Given the description of an element on the screen output the (x, y) to click on. 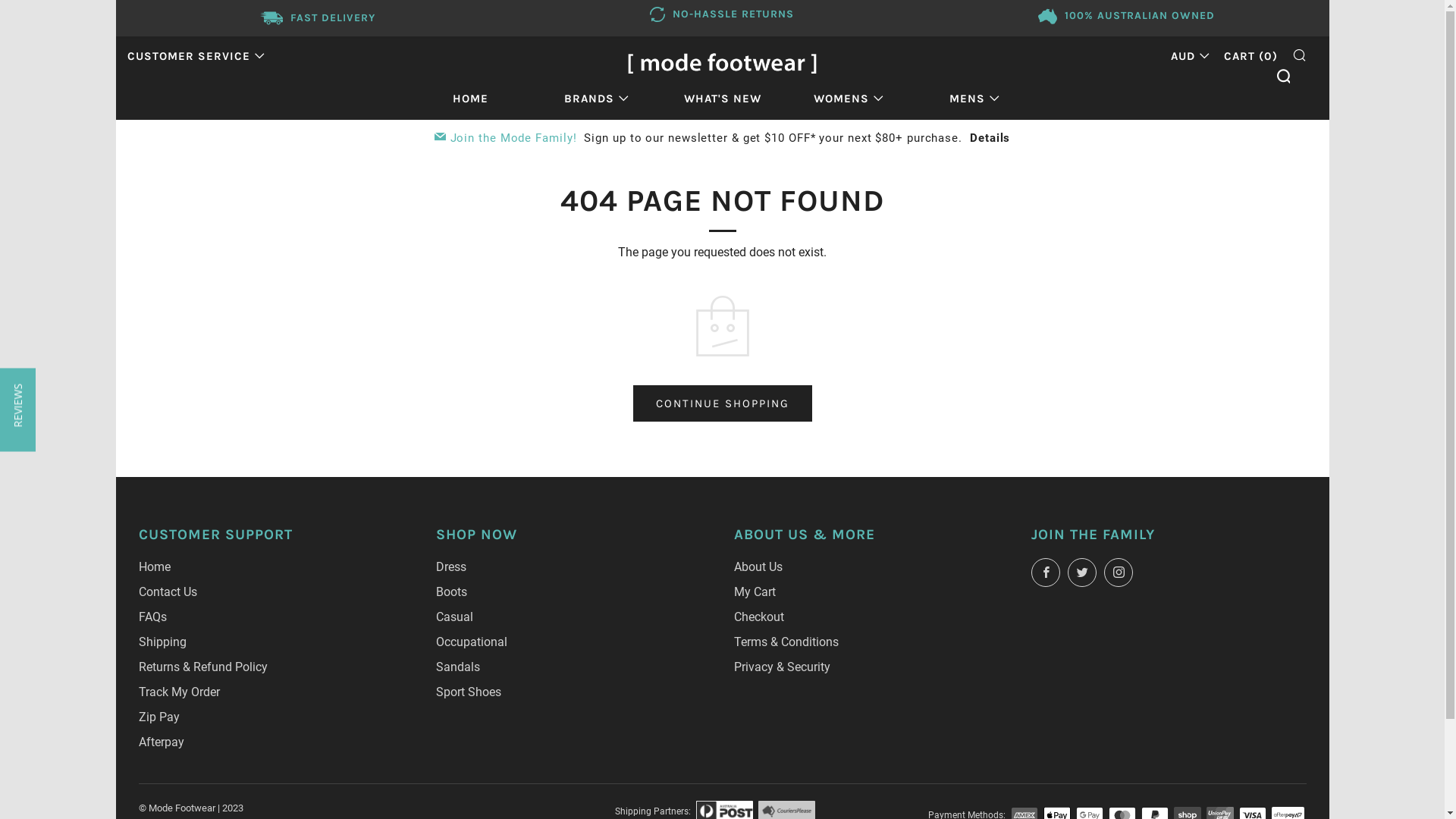
Instagram Element type: text (1118, 572)
Twitter Element type: text (1081, 572)
Checkout Element type: text (759, 616)
Contact Us Element type: text (167, 591)
WOMENS Element type: text (847, 98)
Zip Pay Element type: text (158, 716)
FAQs Element type: text (152, 616)
Shipping Element type: text (161, 641)
Casual Element type: text (454, 616)
AUD Element type: text (1185, 55)
Search Element type: text (1282, 75)
HOME Element type: text (470, 98)
MENS Element type: text (974, 98)
Sandals Element type: text (458, 666)
Track My Order Element type: text (178, 691)
Returns & Refund Policy Element type: text (202, 666)
SEARCH Element type: text (1299, 54)
CUSTOMER SERVICE Element type: text (195, 55)
WHAT'S NEW Element type: text (722, 98)
Terms & Conditions Element type: text (786, 641)
CART (0) Element type: text (1250, 55)
BRANDS Element type: text (596, 98)
Home Element type: text (153, 566)
Boots Element type: text (451, 591)
Afterpay Element type: text (160, 741)
CONTINUE SHOPPING Element type: text (721, 403)
Dress Element type: text (451, 566)
About Us Element type: text (758, 566)
Sport Shoes Element type: text (468, 691)
Privacy & Security Element type: text (782, 666)
My Cart Element type: text (754, 591)
Occupational Element type: text (471, 641)
Facebook Element type: text (1045, 572)
